Given the description of an element on the screen output the (x, y) to click on. 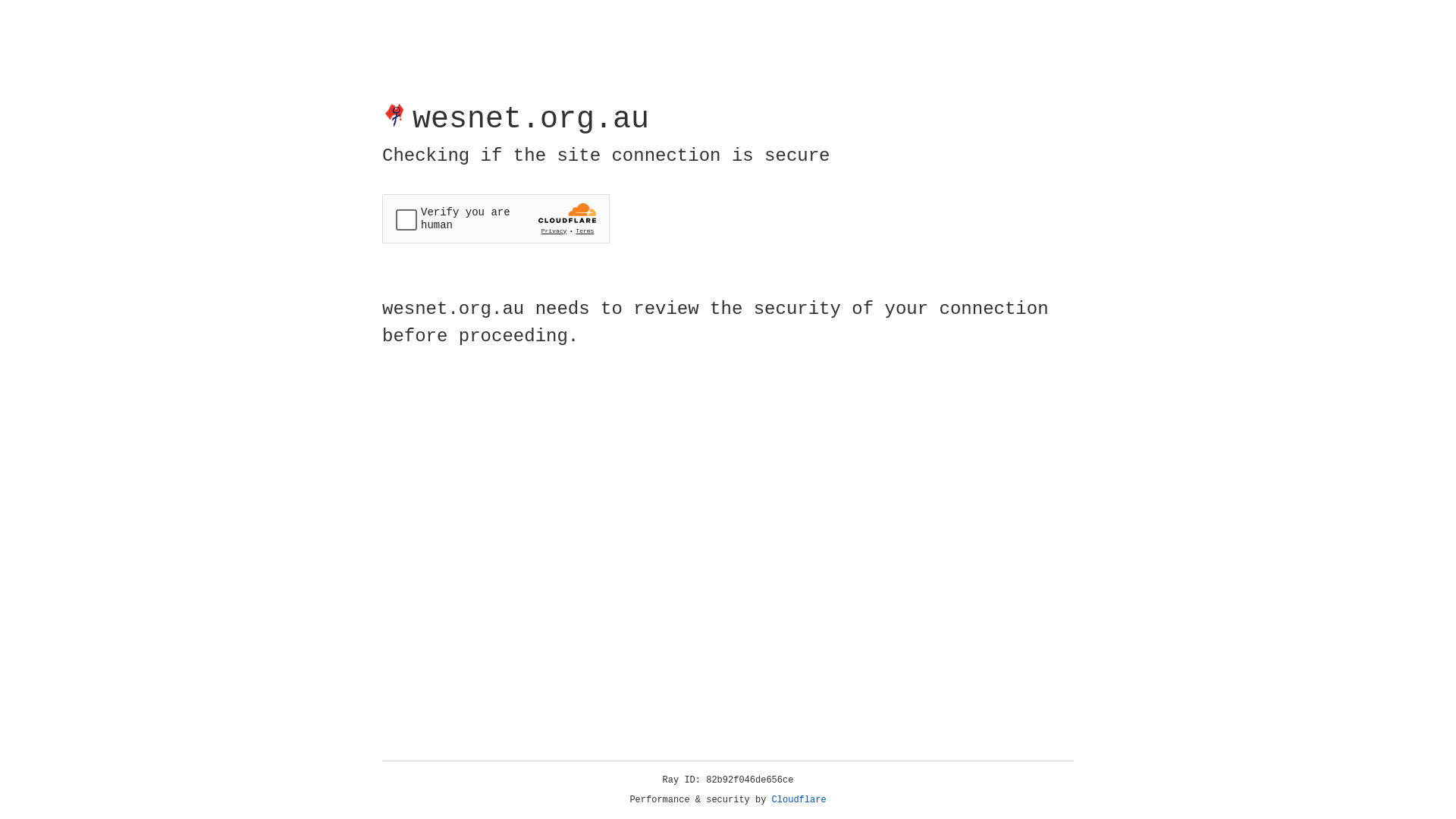
Cloudflare Element type: text (798, 799)
Widget containing a Cloudflare security challenge Element type: hover (495, 218)
